Given the description of an element on the screen output the (x, y) to click on. 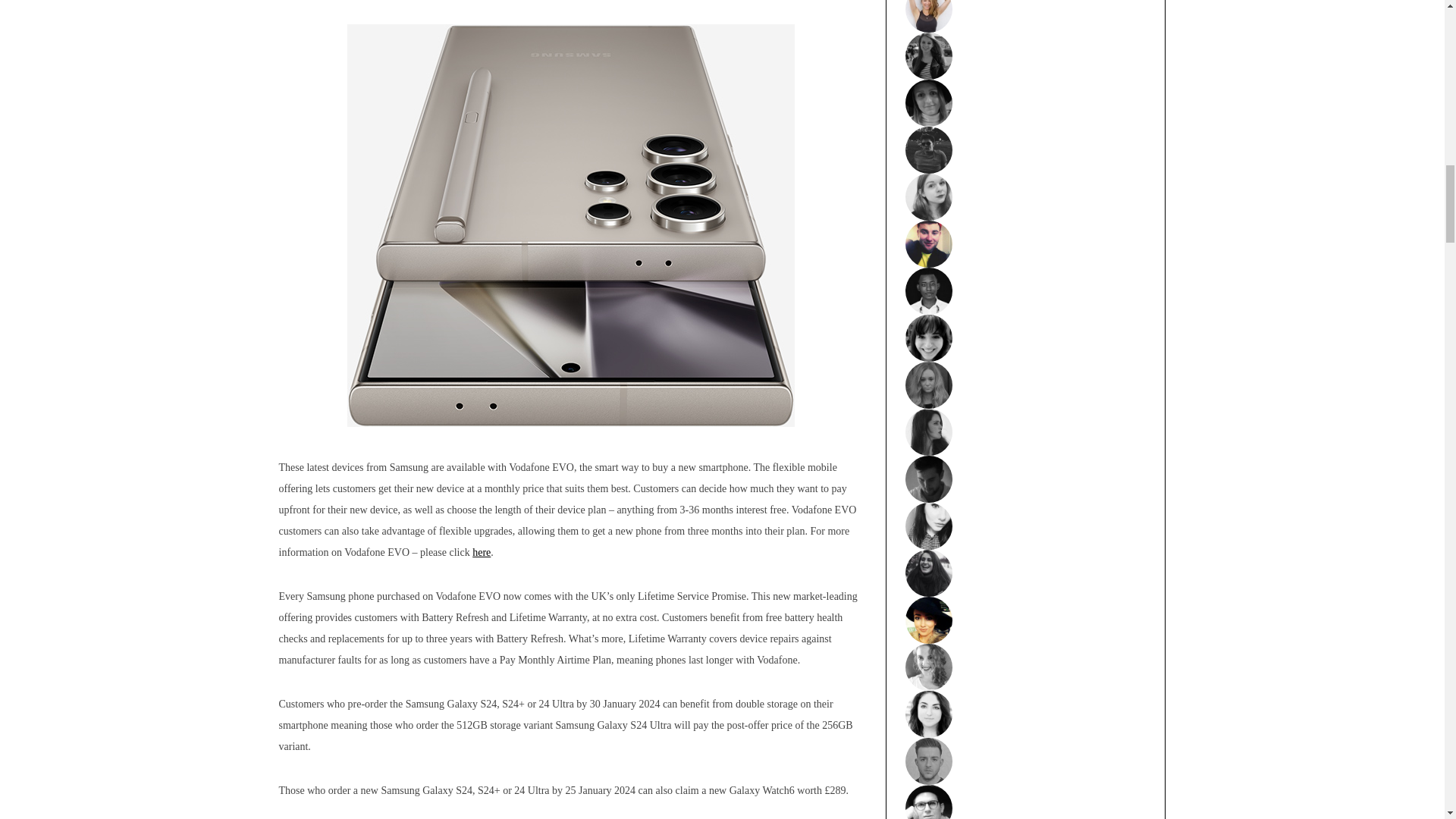
Slater Hale (1026, 149)
Trent Payne (1026, 290)
Nicole Fraser (1026, 384)
Luke Philpott (1026, 243)
Becky Martin (1026, 525)
Grip the Mat (1026, 16)
Danielle Alexa Woolf (1026, 337)
Carly Keen (1026, 196)
Mackenzie Schmidt (1026, 55)
Dan Kelly (1026, 478)
